Given the description of an element on the screen output the (x, y) to click on. 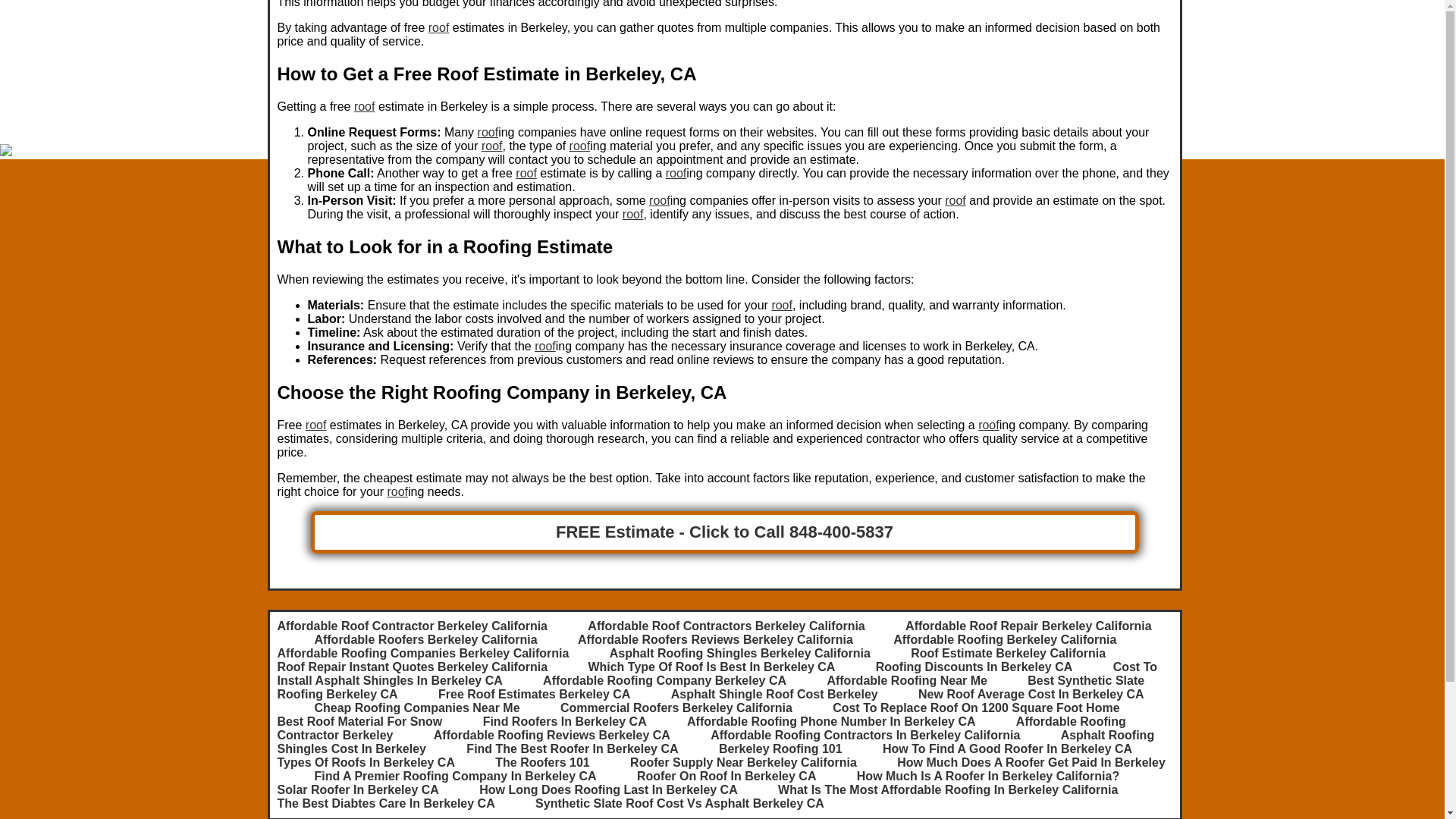
roof (491, 145)
Free Roof Estimates Berkeley CA (534, 694)
roof (659, 200)
Affordable Roof Contractor Berkeley California (413, 625)
roof (545, 345)
Cost To Install Asphalt Shingles In Berkeley CA (717, 673)
roof (633, 214)
Affordable Roof Repair Berkeley California (1028, 625)
Affordable Roofers Reviews Berkeley California (715, 639)
Which Type Of Roof Is Best In Berkeley CA (711, 666)
